Given the description of an element on the screen output the (x, y) to click on. 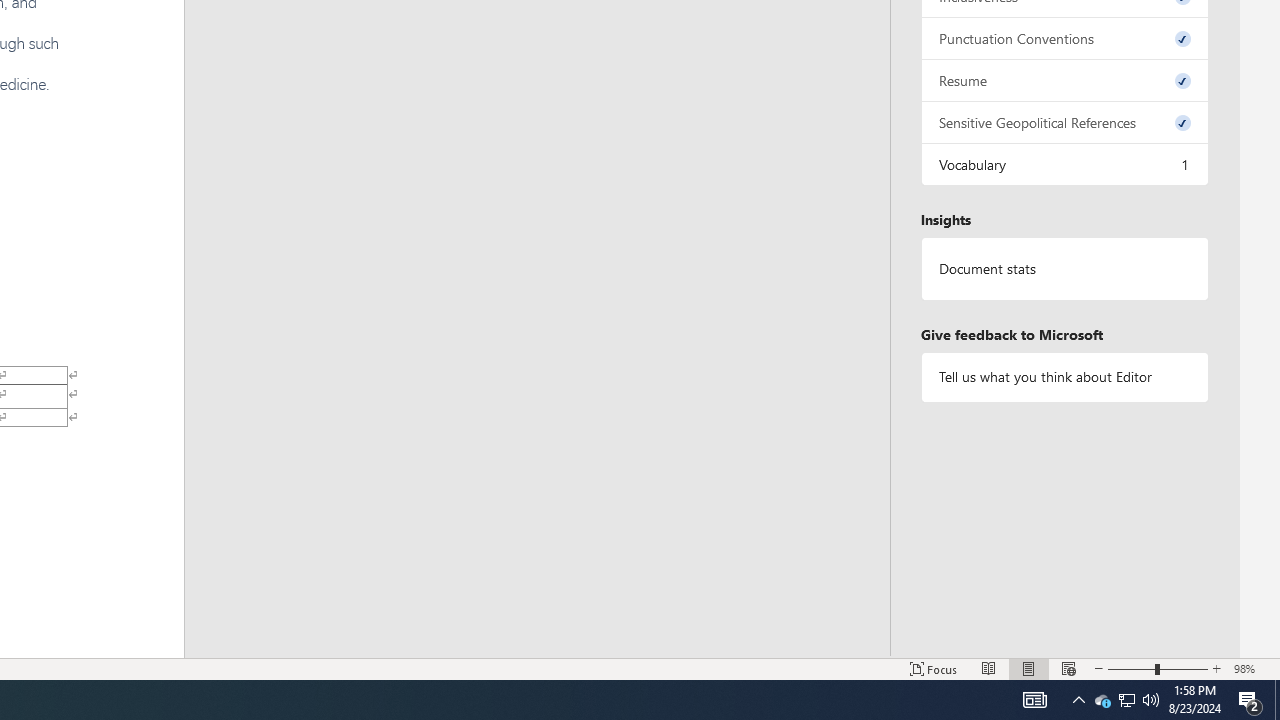
Tell us what you think about Editor (1064, 376)
Vocabulary, 1 issue. Press space or enter to review items. (1064, 164)
Document statistics (1064, 269)
Resume, 0 issues. Press space or enter to review items. (1064, 79)
